Given the description of an element on the screen output the (x, y) to click on. 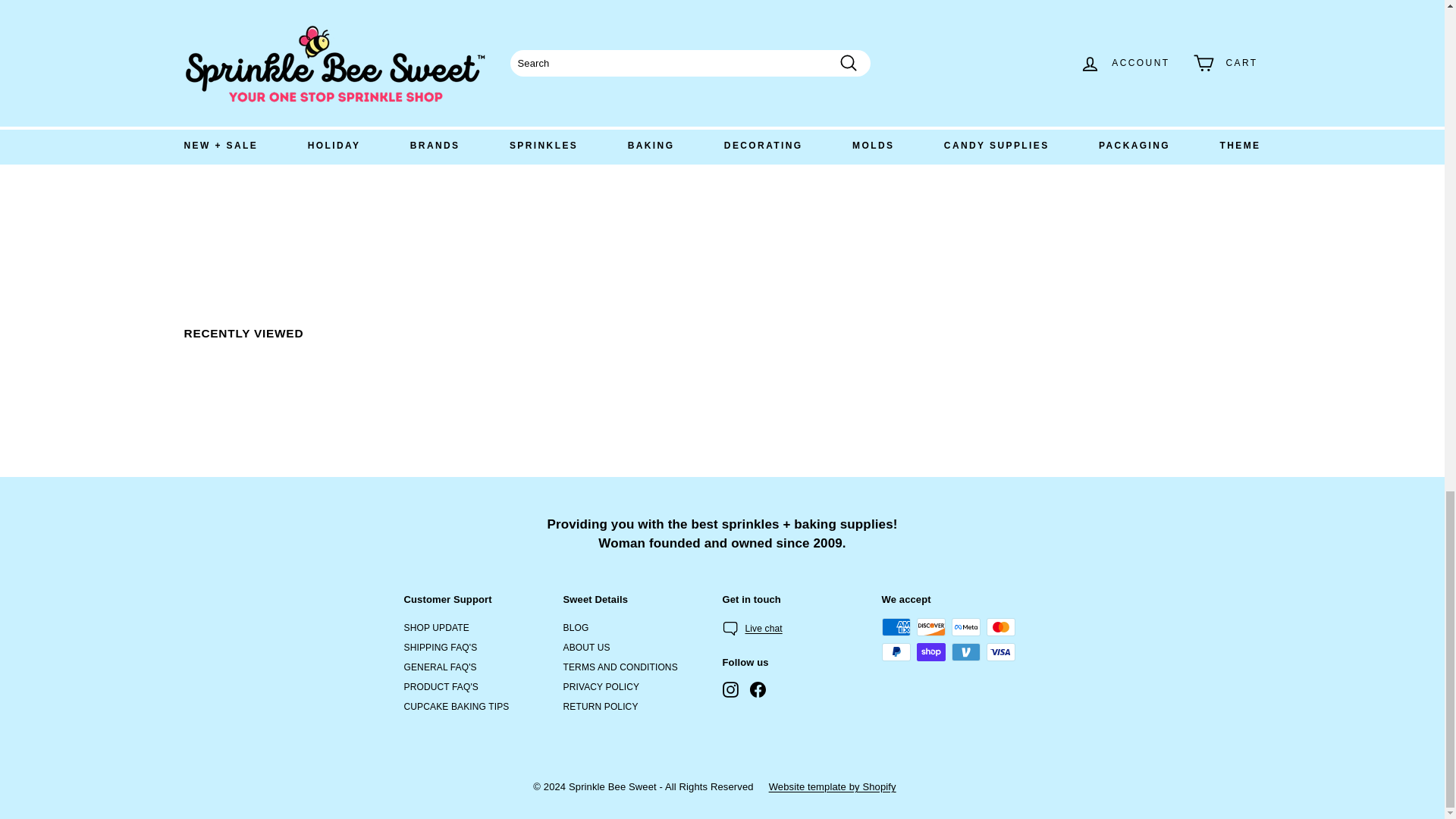
Discover (929, 627)
Sprinkle Bee Sweet on Instagram (730, 689)
Shop Pay (929, 651)
American Express (895, 627)
Sprinkle Bee Sweet on Facebook (757, 689)
Meta Pay (964, 627)
PayPal (895, 651)
Visa (999, 651)
Mastercard (999, 627)
Venmo (964, 651)
